Given the description of an element on the screen output the (x, y) to click on. 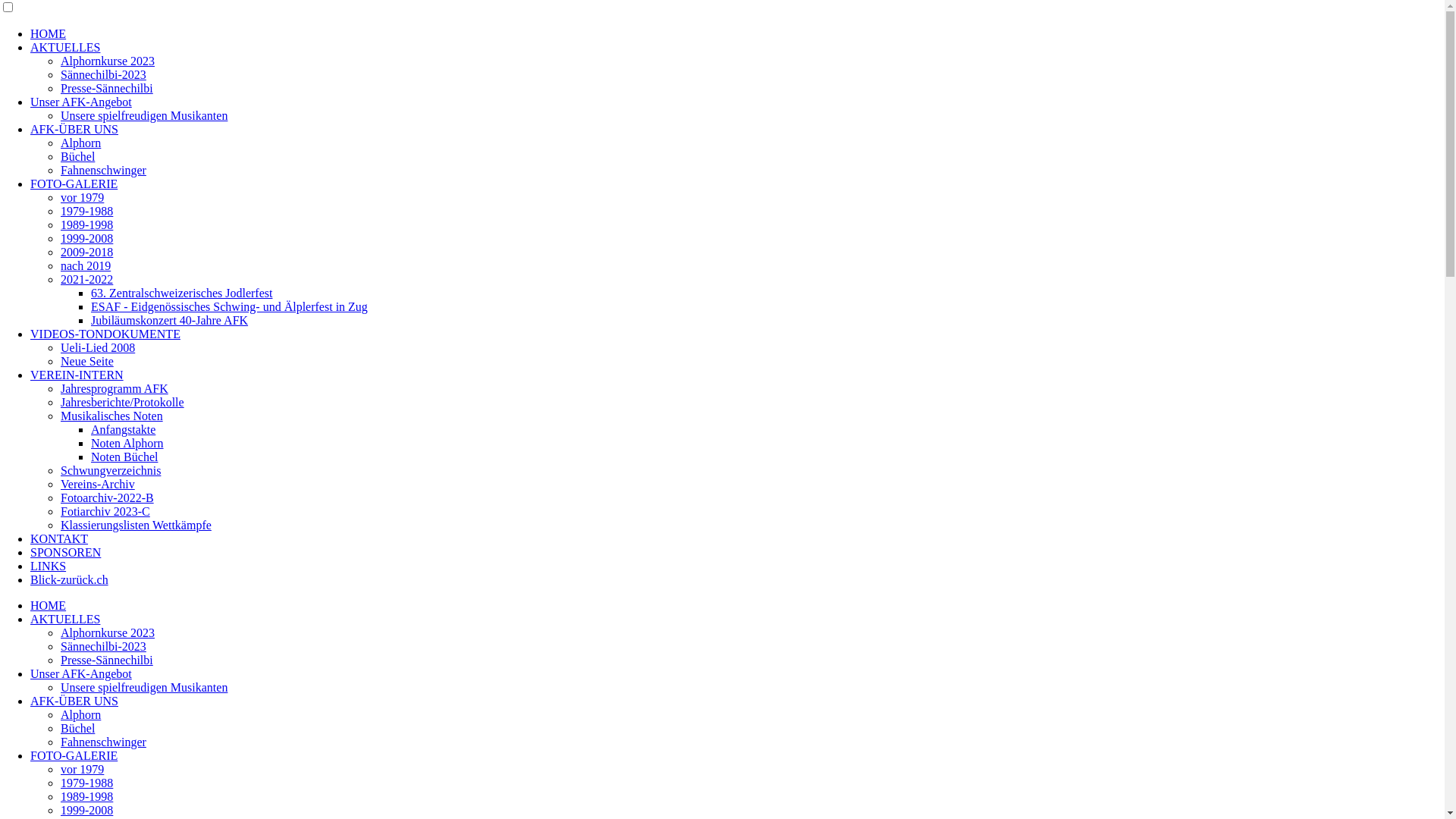
AKTUELLES Element type: text (65, 618)
Fahnenschwinger Element type: text (103, 741)
Neue Seite Element type: text (86, 360)
Fahnenschwinger Element type: text (103, 169)
Alphorn Element type: text (80, 714)
1989-1998 Element type: text (86, 224)
Vereins-Archiv Element type: text (97, 483)
Unsere spielfreudigen Musikanten Element type: text (143, 686)
1999-2008 Element type: text (86, 809)
VIDEOS-TONDOKUMENTE Element type: text (105, 333)
Alphornkurse 2023 Element type: text (107, 60)
Ueli-Lied 2008 Element type: text (97, 347)
2009-2018 Element type: text (86, 251)
1989-1998 Element type: text (86, 796)
LINKS Element type: text (47, 565)
HOME Element type: text (47, 605)
Unsere spielfreudigen Musikanten Element type: text (143, 115)
Schwungverzeichnis Element type: text (110, 470)
1979-1988 Element type: text (86, 210)
Noten Alphorn Element type: text (127, 442)
SPONSOREN Element type: text (65, 552)
Unser AFK-Angebot Element type: text (80, 673)
HOME Element type: text (47, 33)
2021-2022 Element type: text (86, 279)
Anfangstakte Element type: text (123, 429)
FOTO-GALERIE Element type: text (73, 183)
KONTAKT Element type: text (58, 538)
Jahresprogramm AFK Element type: text (114, 388)
vor 1979 Element type: text (81, 768)
63. Zentralschweizerisches Jodlerfest Element type: text (181, 292)
Jahresberichte/Protokolle Element type: text (122, 401)
FOTO-GALERIE Element type: text (73, 755)
Alphorn Element type: text (80, 142)
Alphornkurse 2023 Element type: text (107, 632)
Fotoarchiv-2022-B Element type: text (106, 497)
Musikalisches Noten Element type: text (111, 415)
Fotiarchiv 2023-C Element type: text (105, 511)
VEREIN-INTERN Element type: text (76, 374)
AKTUELLES Element type: text (65, 46)
1979-1988 Element type: text (86, 782)
Unser AFK-Angebot Element type: text (80, 101)
vor 1979 Element type: text (81, 197)
nach 2019 Element type: text (85, 265)
1999-2008 Element type: text (86, 238)
